Given the description of an element on the screen output the (x, y) to click on. 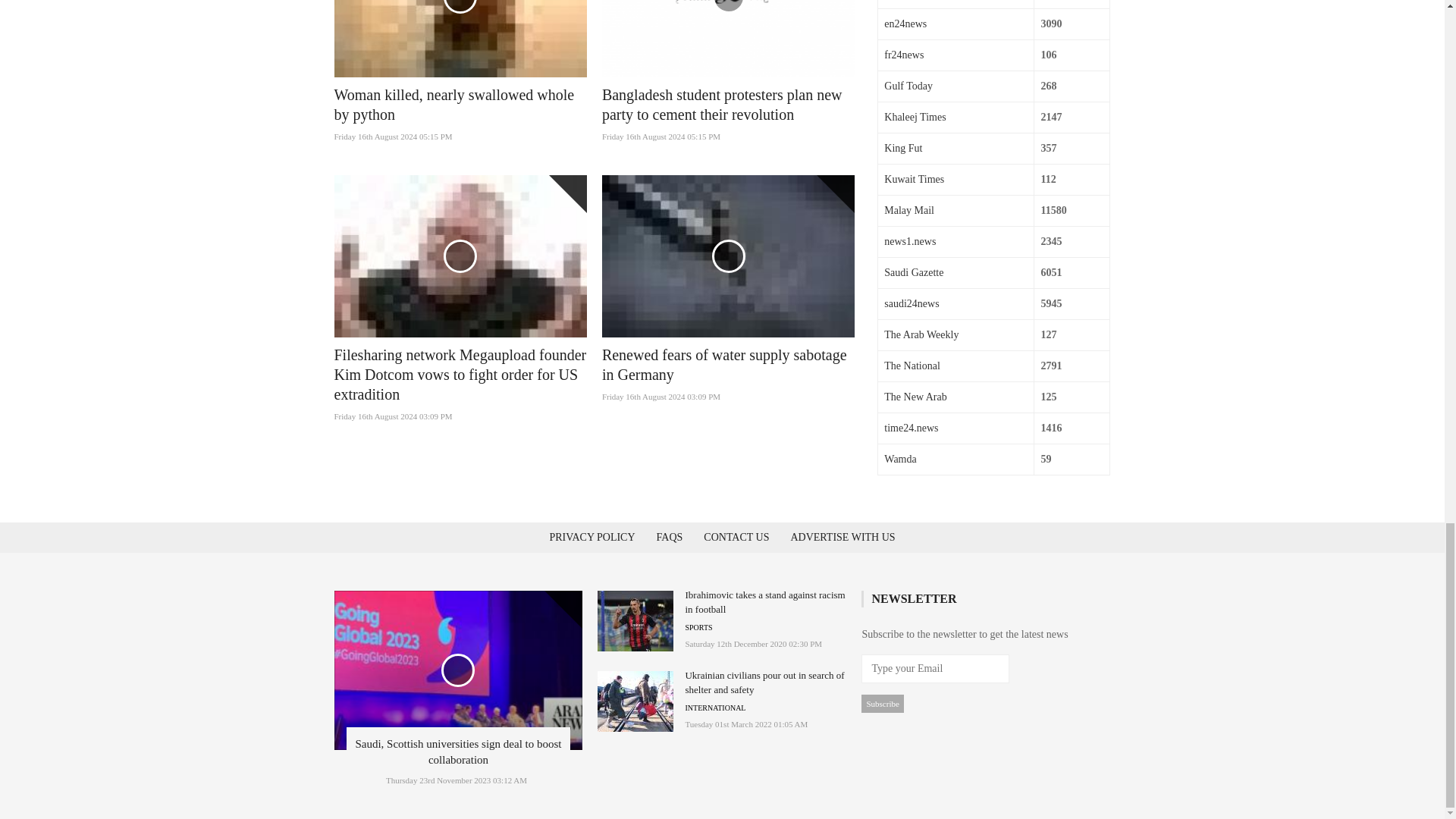
Subscribe (881, 703)
Woman killed, nearly swallowed whole by python (453, 104)
Renewed fears of water supply sabotage in Germany (724, 364)
